Given the description of an element on the screen output the (x, y) to click on. 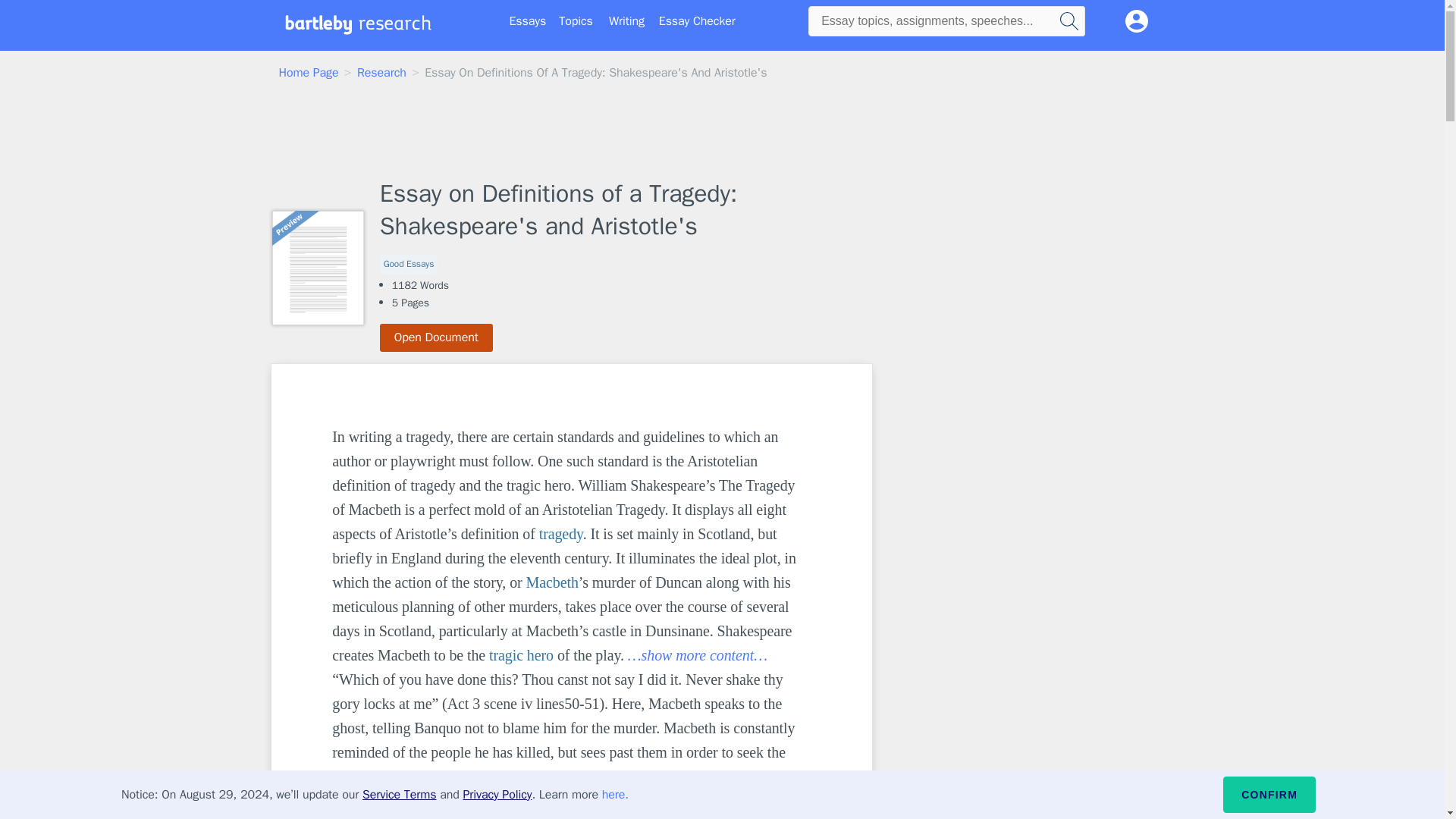
Macbeth (551, 582)
Writing (626, 20)
Research (381, 72)
Open Document (436, 337)
Essay Checker (697, 20)
Home Page (309, 72)
Essays (528, 20)
tragedy (560, 533)
Topics (575, 20)
tragic hero (521, 655)
